Given the description of an element on the screen output the (x, y) to click on. 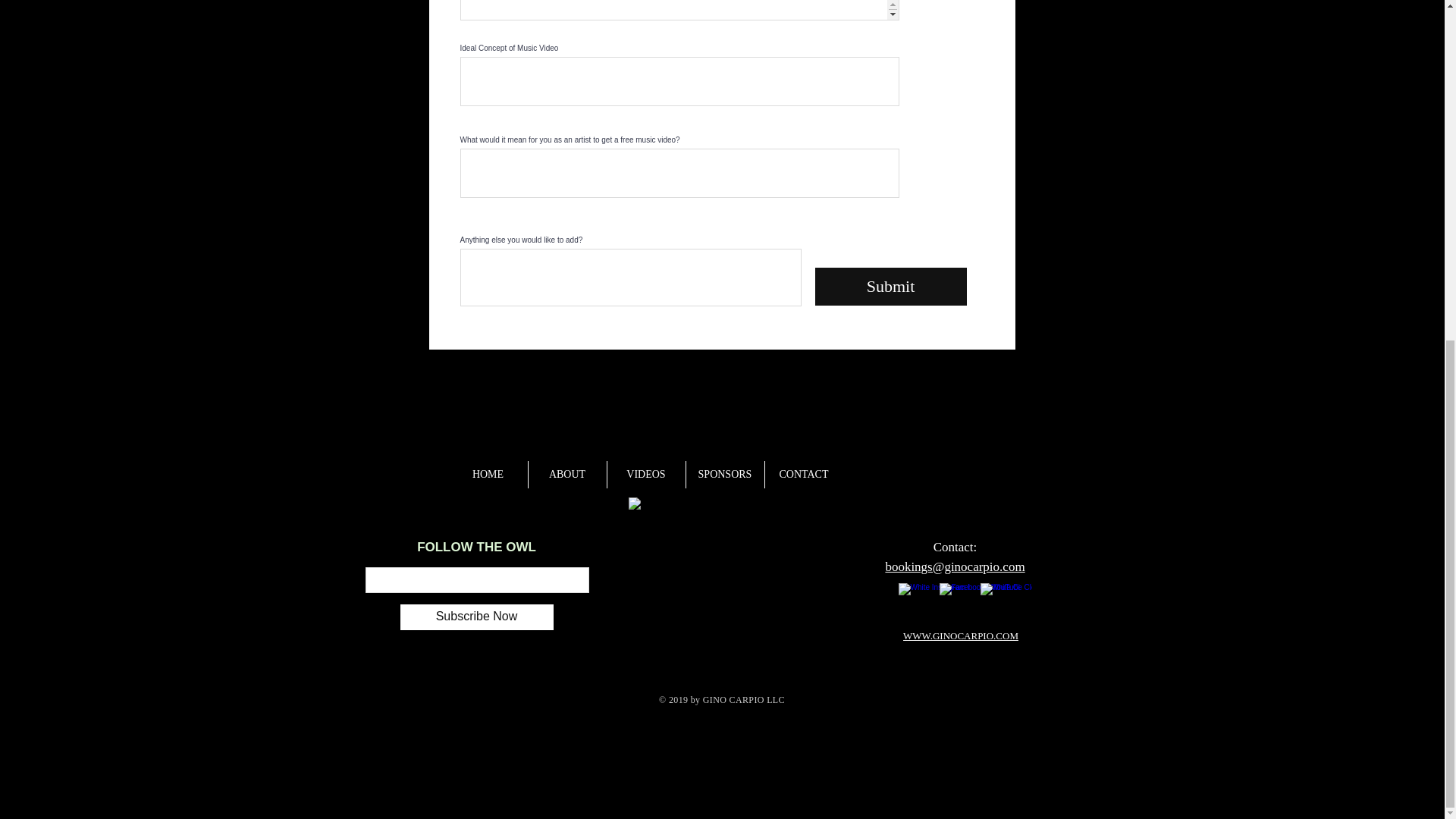
ABOUT (567, 474)
Subscribe Now (476, 616)
HOME (487, 474)
CONTACT (803, 474)
Submit (889, 286)
VIDEOS (646, 474)
SPONSORS (724, 474)
WWW.GINOCARPIO.COM (959, 635)
